Given the description of an element on the screen output the (x, y) to click on. 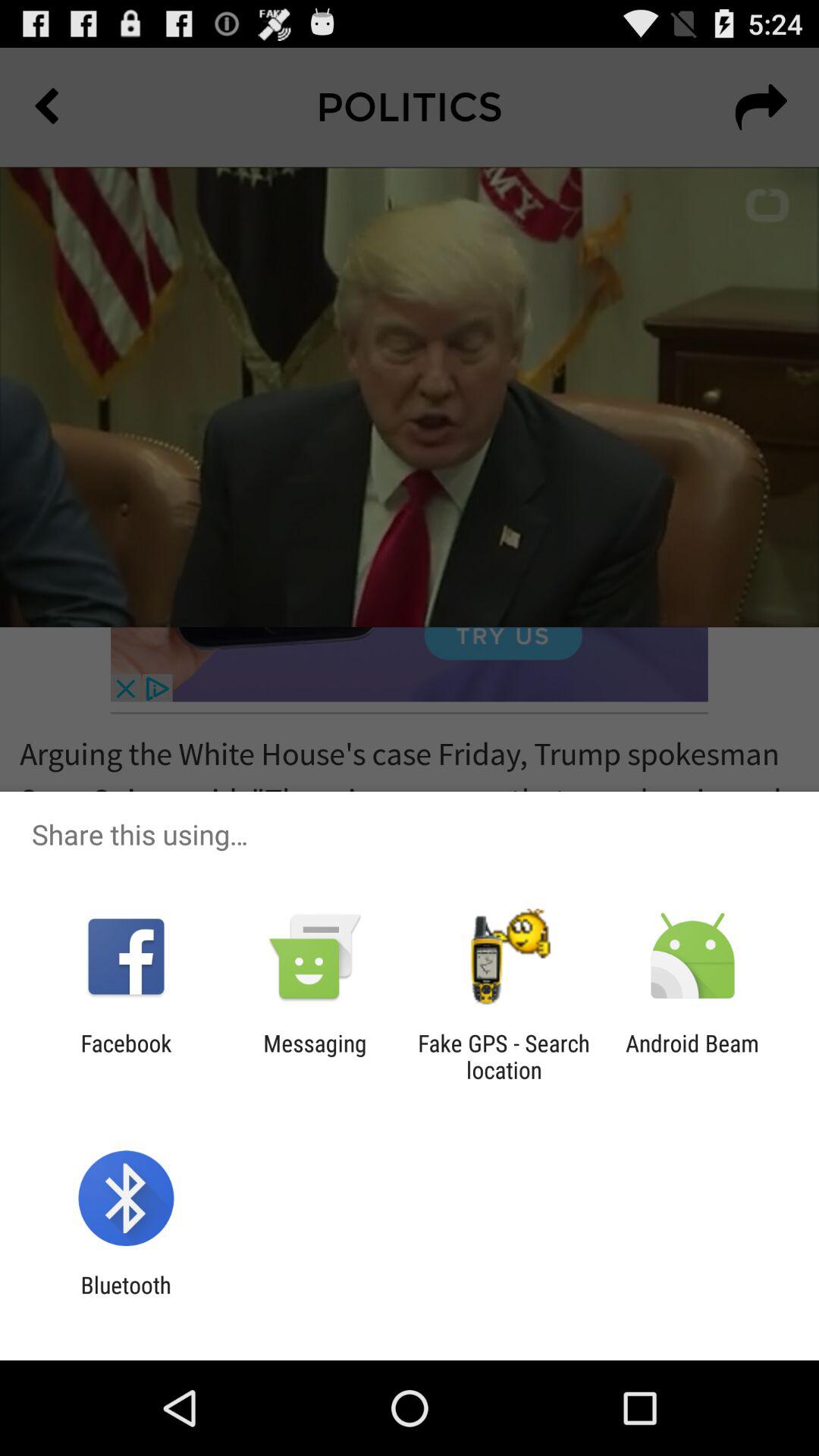
open the fake gps search app (503, 1056)
